Given the description of an element on the screen output the (x, y) to click on. 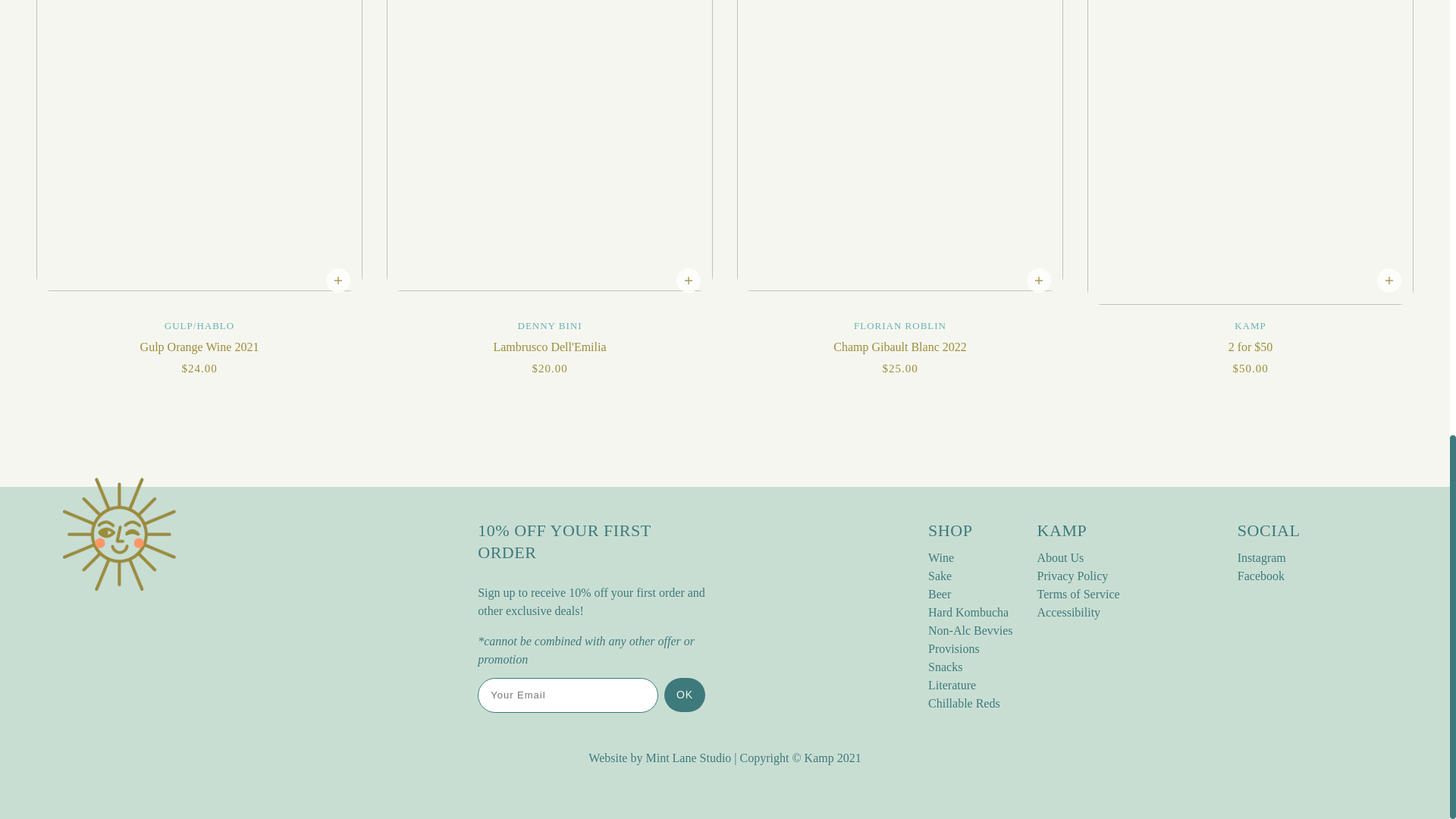
Facebook (1260, 575)
Terms of Service (1077, 594)
Privacy Policy (1072, 575)
Wine (940, 557)
Instagram (1261, 557)
Accessibility (1068, 612)
Snacks (945, 666)
Beer (939, 594)
Chillable Reds (964, 703)
Hard Kombucha (968, 612)
